Given the description of an element on the screen output the (x, y) to click on. 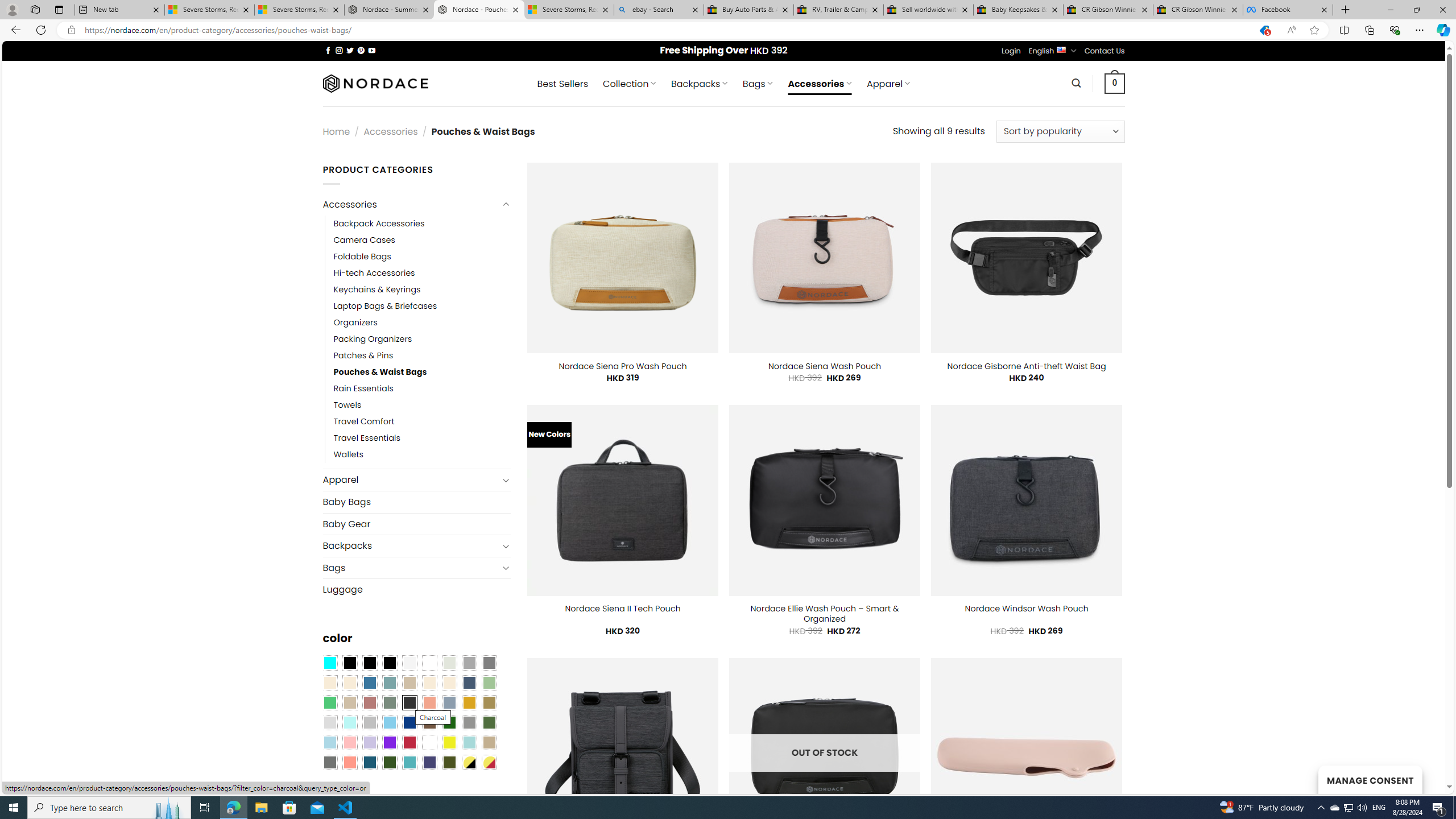
Brownie (408, 681)
Keychains & Keyrings (376, 289)
Emerald Green (329, 702)
Rain Essentials (363, 388)
Travel Essentials (366, 438)
Backpack Accessories (379, 222)
All Gray (488, 662)
This site has coupons! Shopping in Microsoft Edge, 5 (1263, 29)
Backpack Accessories (422, 222)
Packing Organizers (372, 339)
Follow on Facebook (327, 49)
